Given the description of an element on the screen output the (x, y) to click on. 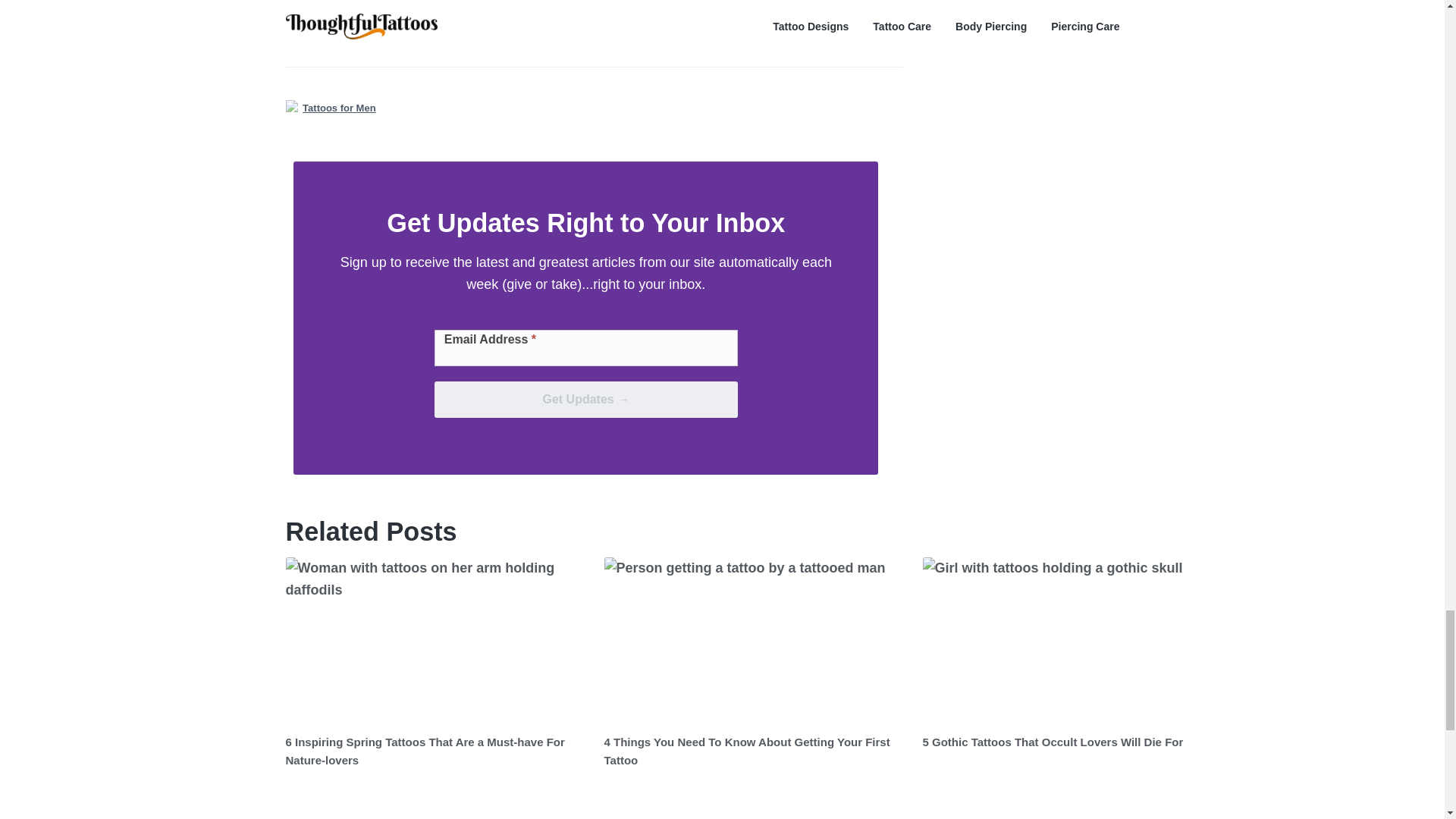
Share on LinkedIn (720, 14)
Email (845, 14)
Save to Pinterest (593, 14)
LinkedIn (720, 14)
Send over email (845, 14)
